Given the description of an element on the screen output the (x, y) to click on. 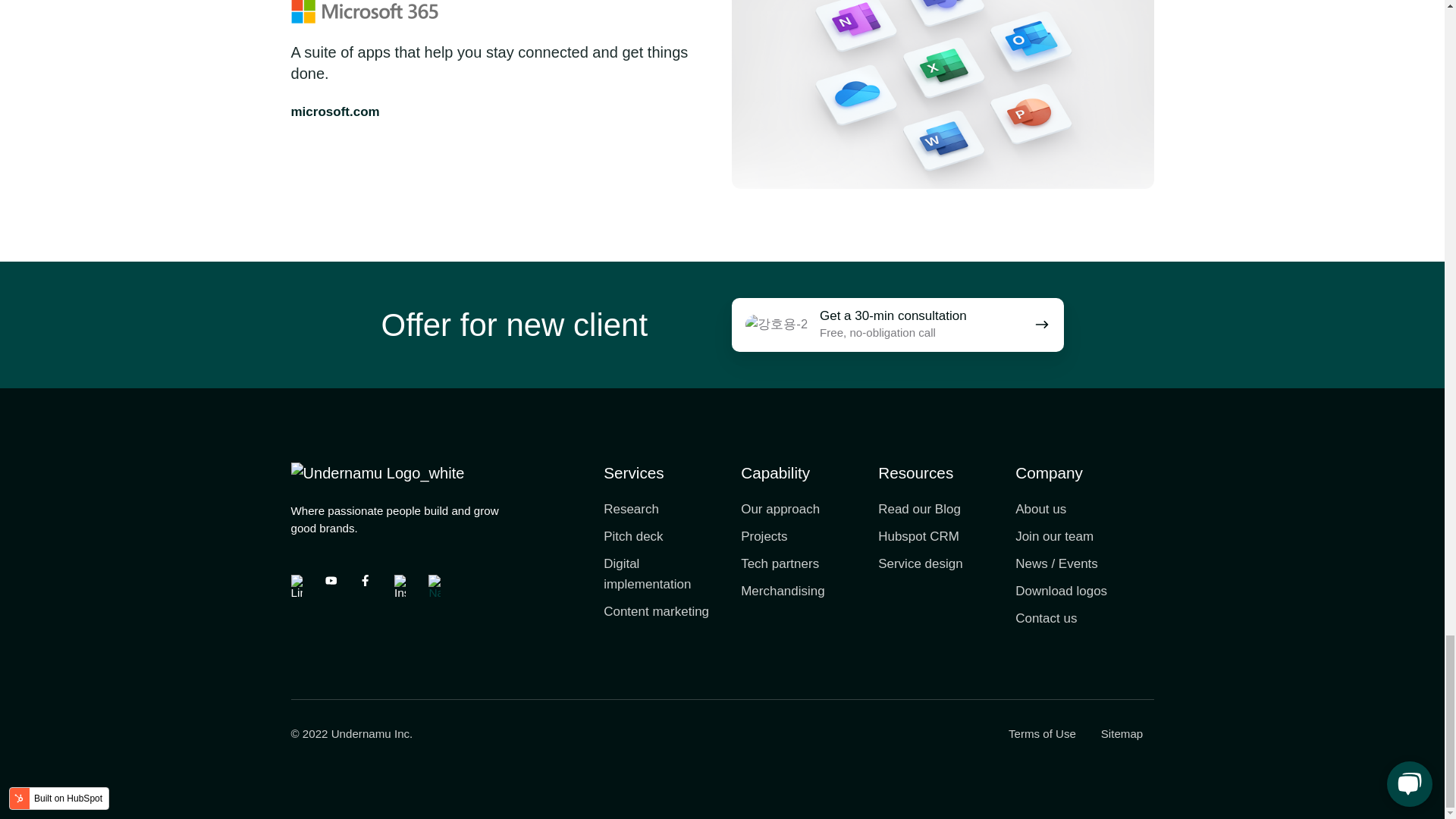
Get a 30-min consultation (896, 325)
microsoft.com (335, 111)
